Given the description of an element on the screen output the (x, y) to click on. 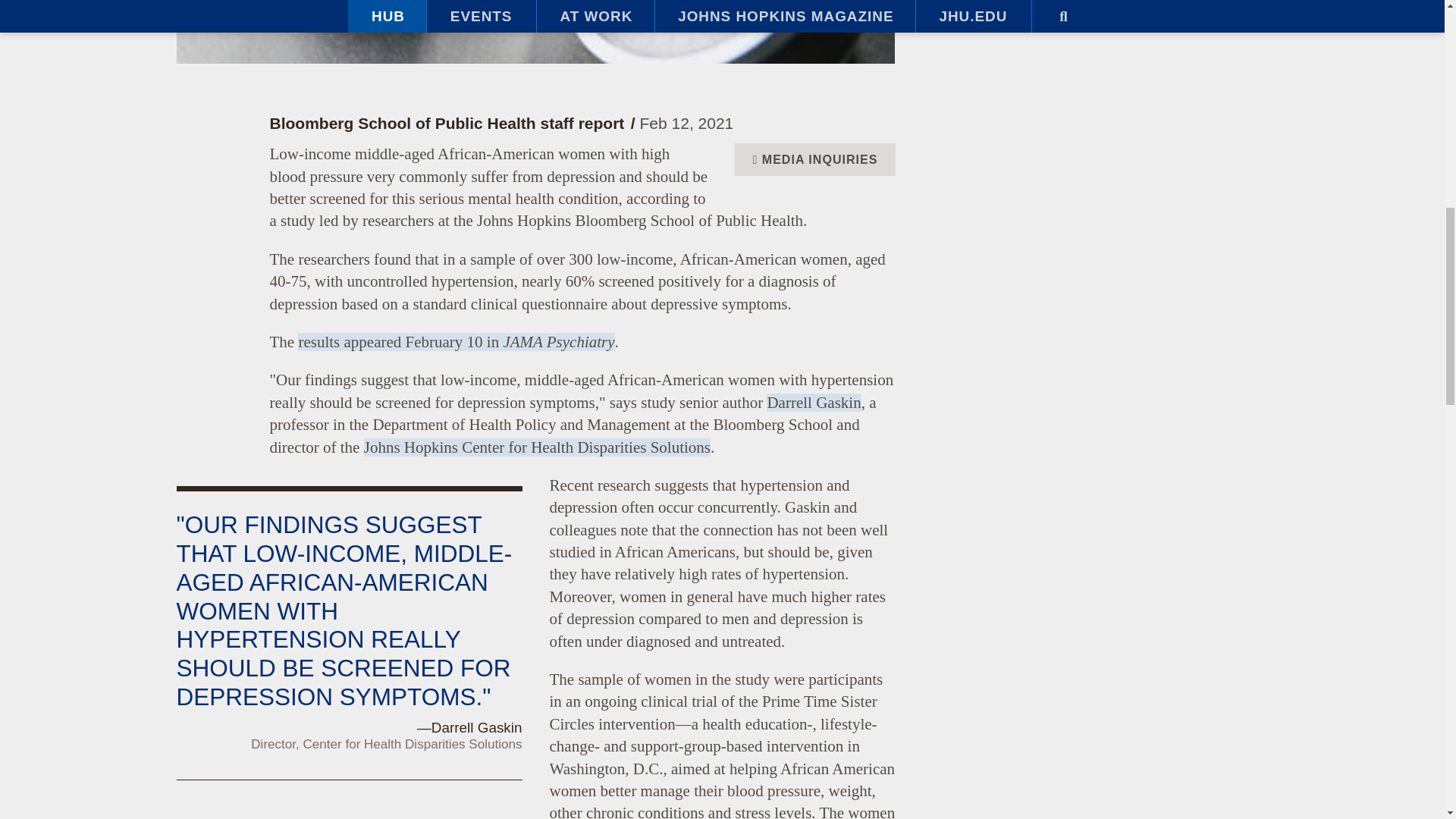
MEDIA INQUIRIES (815, 159)
